Given the description of an element on the screen output the (x, y) to click on. 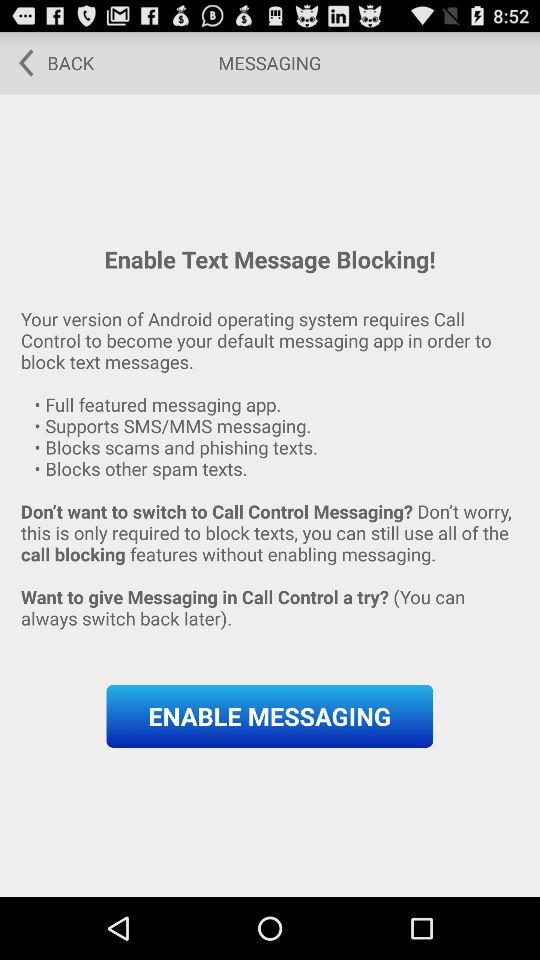
swipe until back item (49, 62)
